Given the description of an element on the screen output the (x, y) to click on. 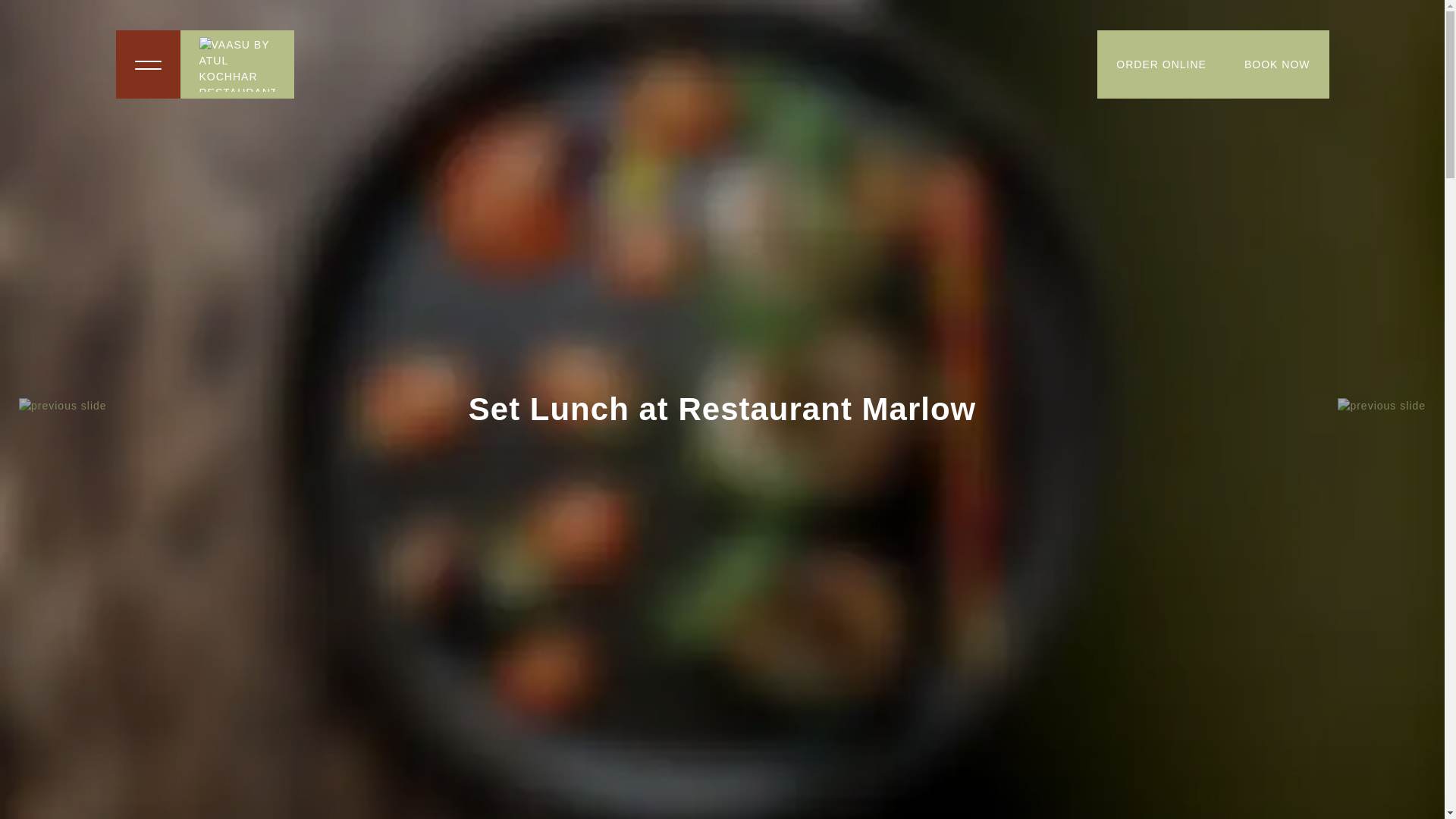
Order Online (1161, 64)
Menu (147, 64)
BOOK NOW (1277, 64)
ORDER ONLINE (1161, 64)
Book Now (1277, 64)
